Given the description of an element on the screen output the (x, y) to click on. 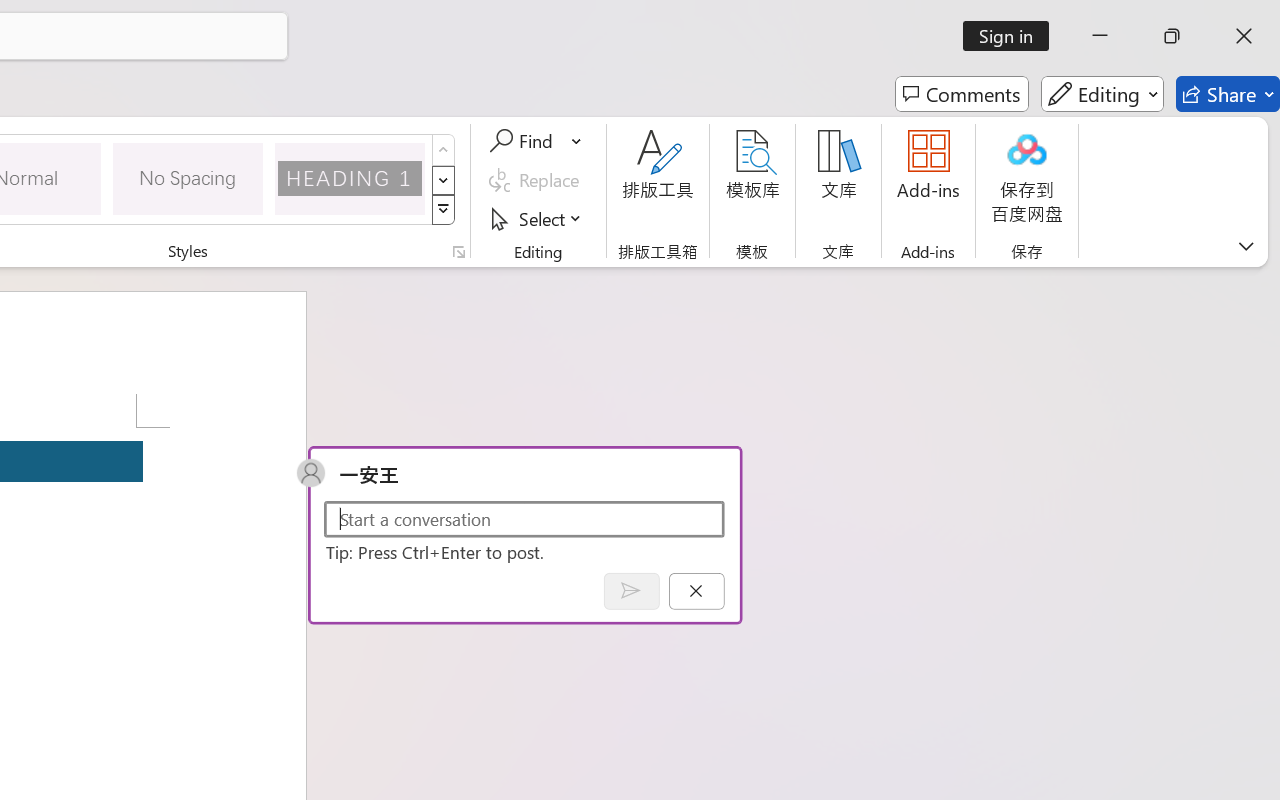
Post comment (Ctrl + Enter) (630, 590)
Sign in (1012, 35)
Cancel (696, 590)
